Given the description of an element on the screen output the (x, y) to click on. 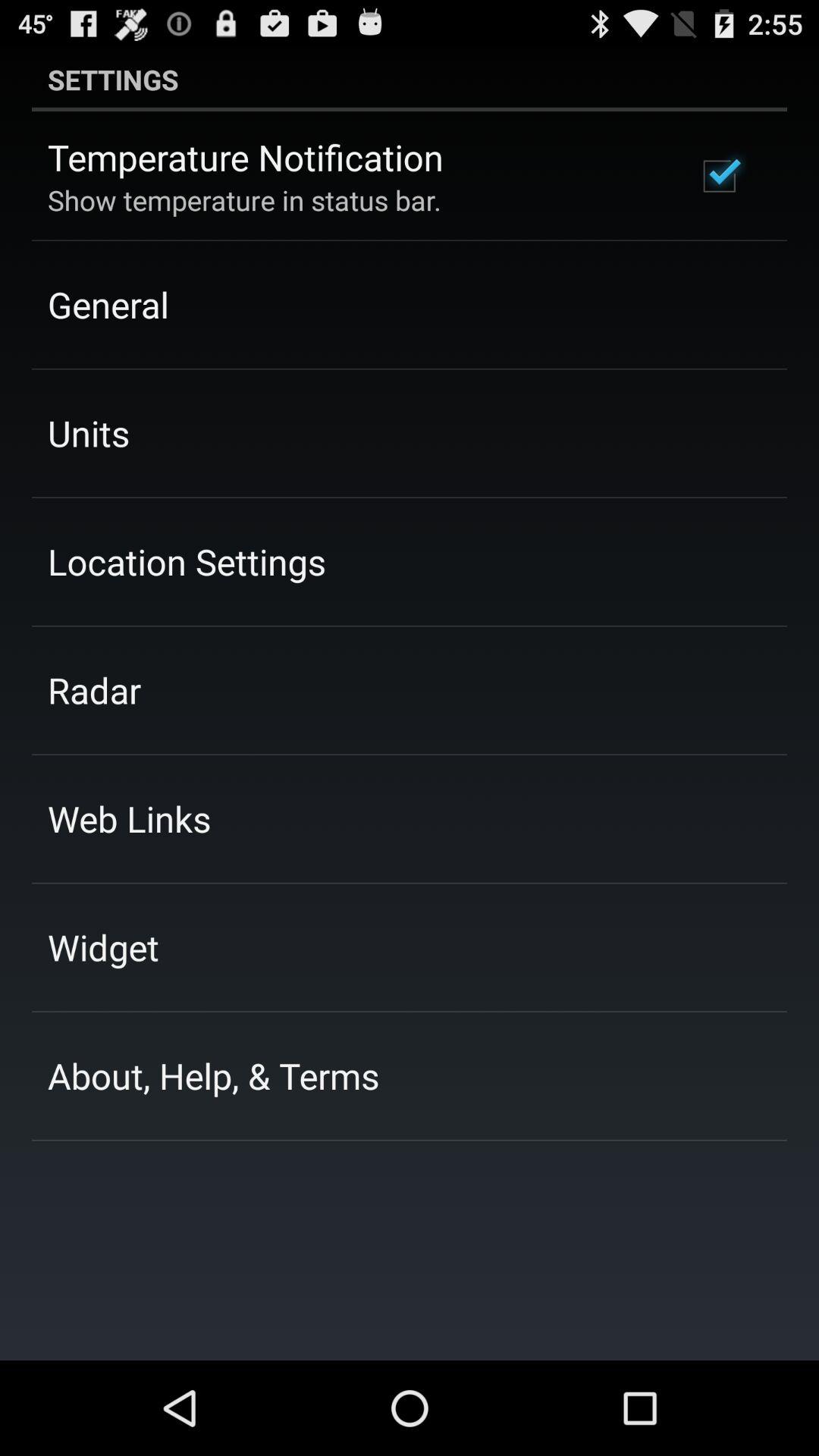
turn off location settings app (186, 561)
